Given the description of an element on the screen output the (x, y) to click on. 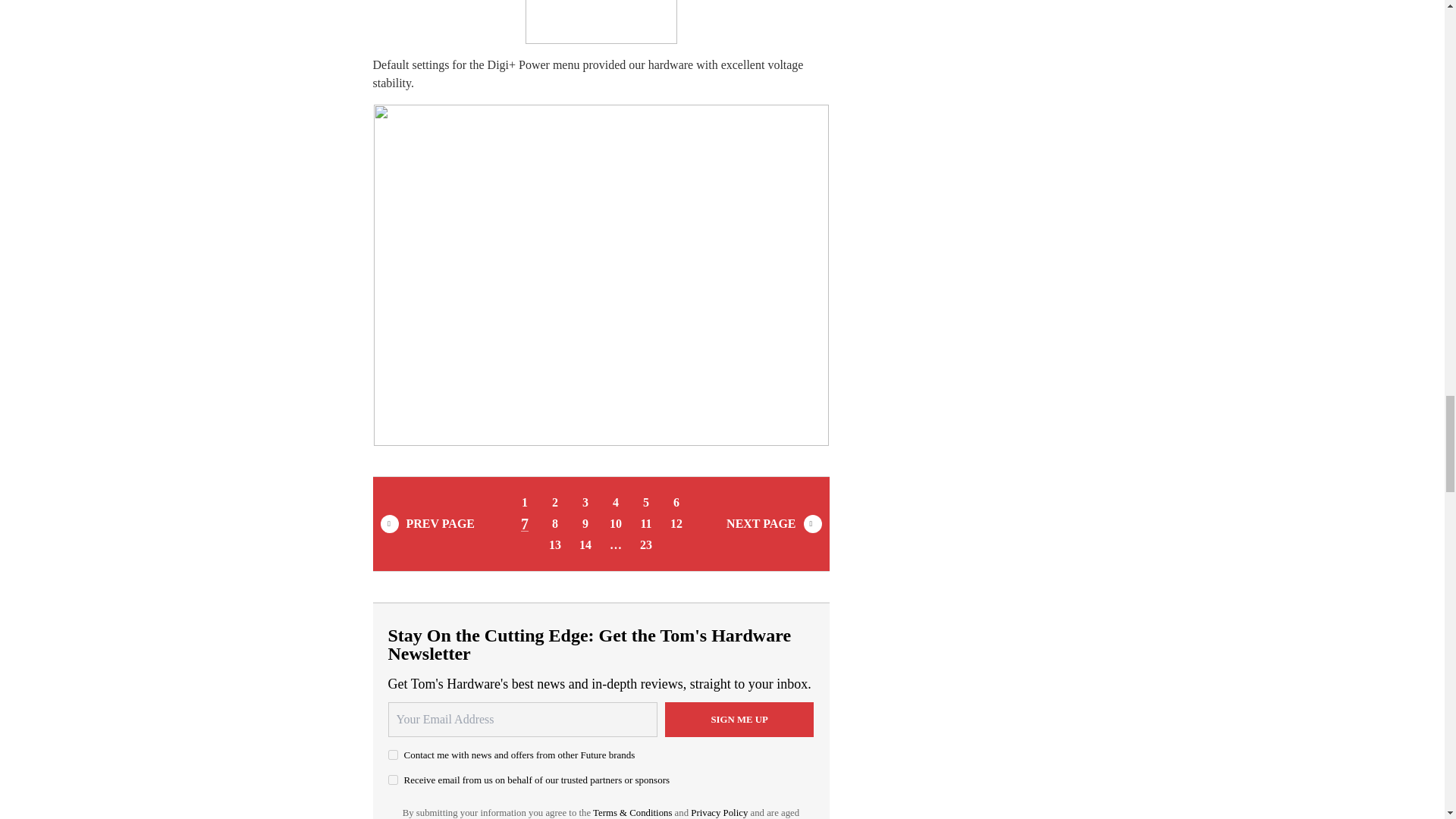
Sign me up (739, 719)
on (392, 779)
on (392, 755)
